Given the description of an element on the screen output the (x, y) to click on. 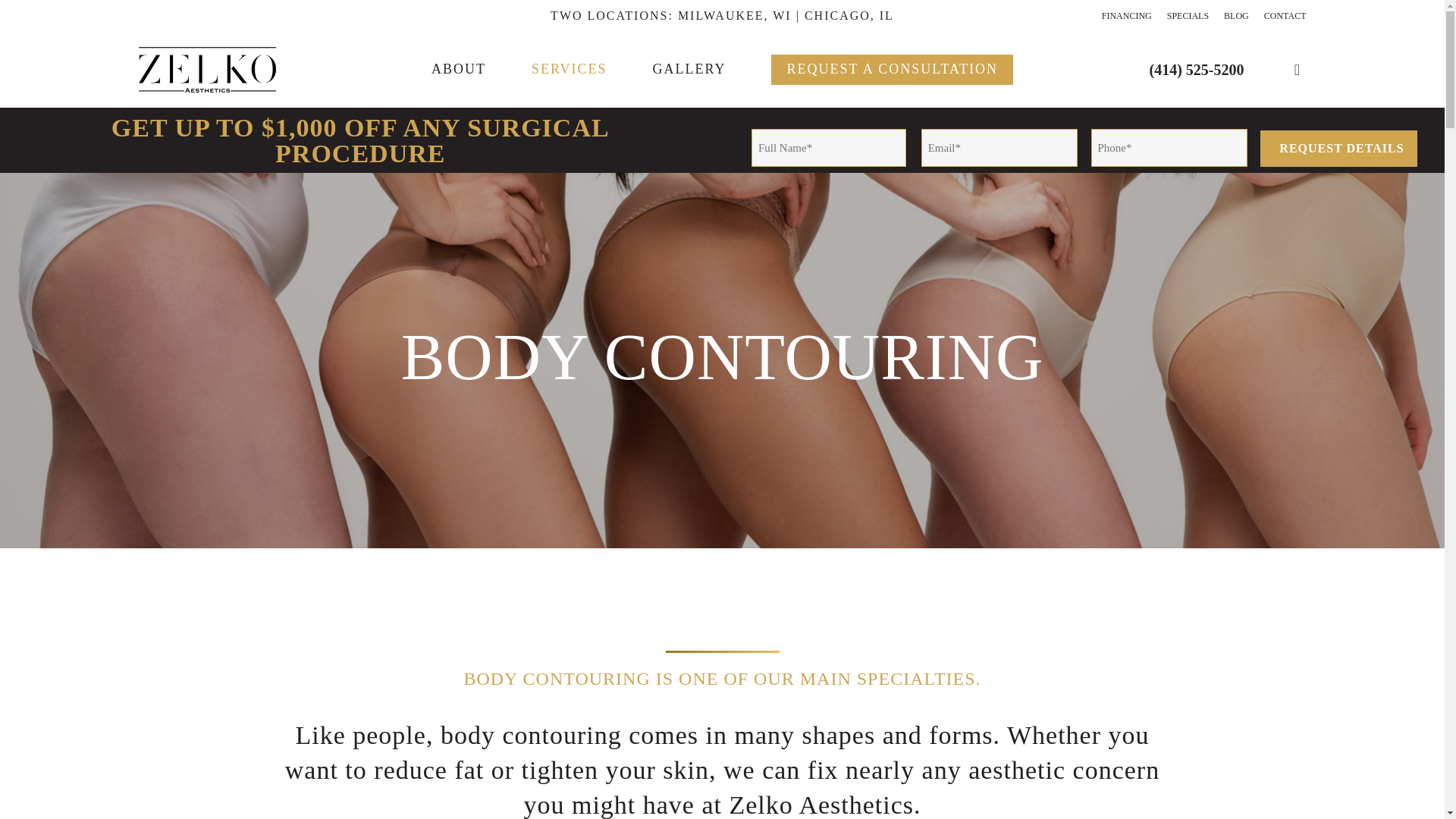
REQUEST A CONSULTATION (892, 68)
GALLERY (688, 68)
BLOG (1236, 15)
SPECIALS (1187, 15)
search (1296, 69)
REQUEST DETAILS (1338, 148)
REQUEST DETAILS (1338, 148)
FINANCING (1126, 15)
CONTACT (1284, 15)
SERVICES (569, 68)
ABOUT (458, 68)
